Given the description of an element on the screen output the (x, y) to click on. 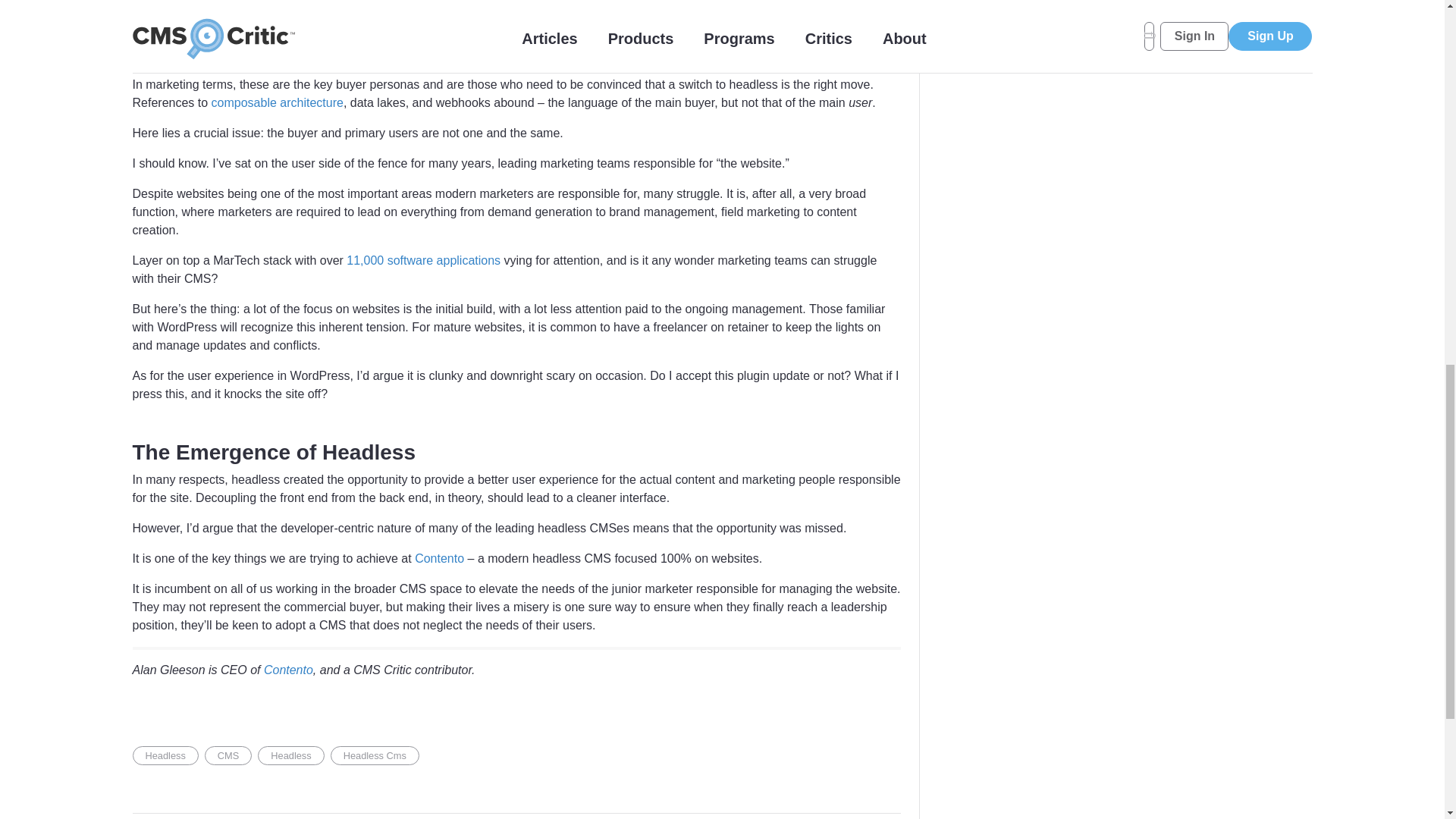
Headless (165, 755)
headless CMS (258, 17)
Contento (288, 669)
CMS (228, 755)
Jamstack (780, 35)
11,000 software applications (423, 259)
Contento (439, 558)
composable architecture (277, 102)
Headless (290, 755)
Headless Cms (374, 755)
